Given the description of an element on the screen output the (x, y) to click on. 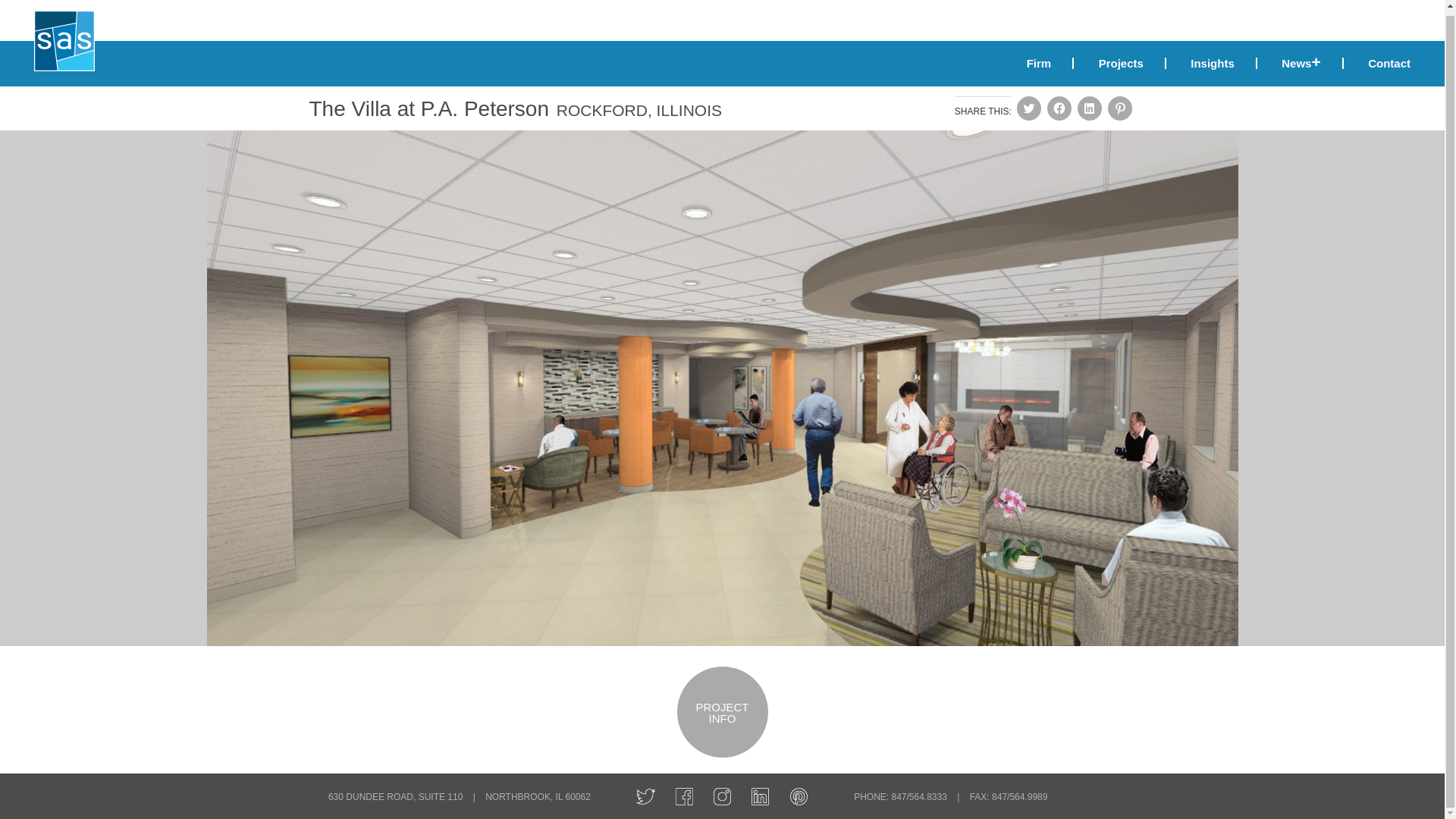
Contact (1378, 62)
Firm (1040, 62)
Projects (1121, 62)
Click to share on LinkedIn (1089, 108)
SAS Architects and Planners, LLC on LinkedIn (760, 792)
News (1301, 62)
Insights (1213, 62)
Click to share on Facebook (1058, 108)
Click to share on Pinterest (1120, 108)
Click to share on Twitter (1028, 108)
